Given the description of an element on the screen output the (x, y) to click on. 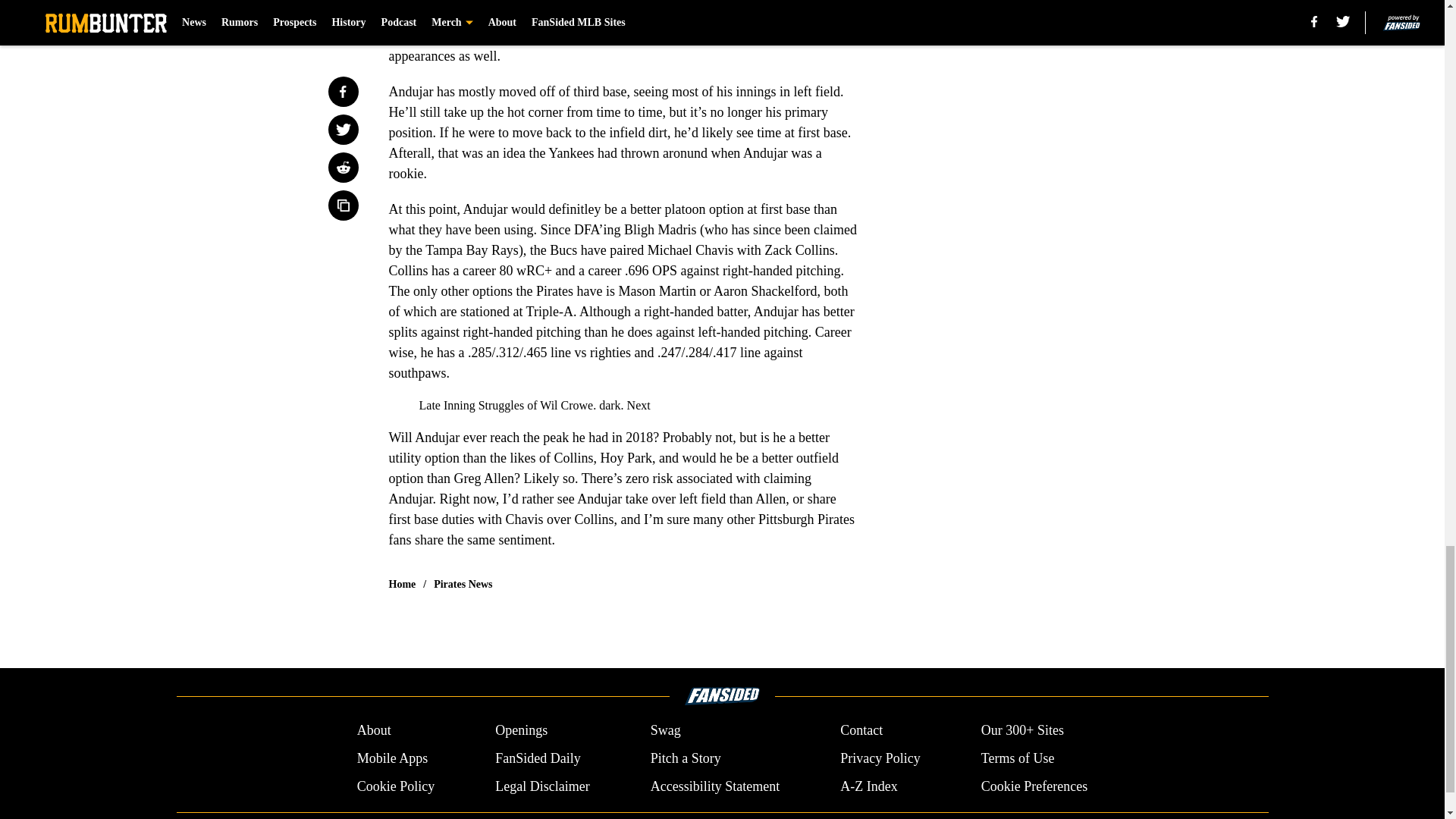
Contact (861, 730)
Terms of Use (1017, 758)
Legal Disclaimer (542, 786)
Pirates News (462, 584)
Accessibility Statement (714, 786)
Privacy Policy (880, 758)
Home (401, 584)
FanSided Daily (537, 758)
Openings (521, 730)
Cookie Preferences (1034, 786)
A-Z Index (868, 786)
Cookie Policy (395, 786)
About (373, 730)
Pitch a Story (685, 758)
Swag (665, 730)
